Given the description of an element on the screen output the (x, y) to click on. 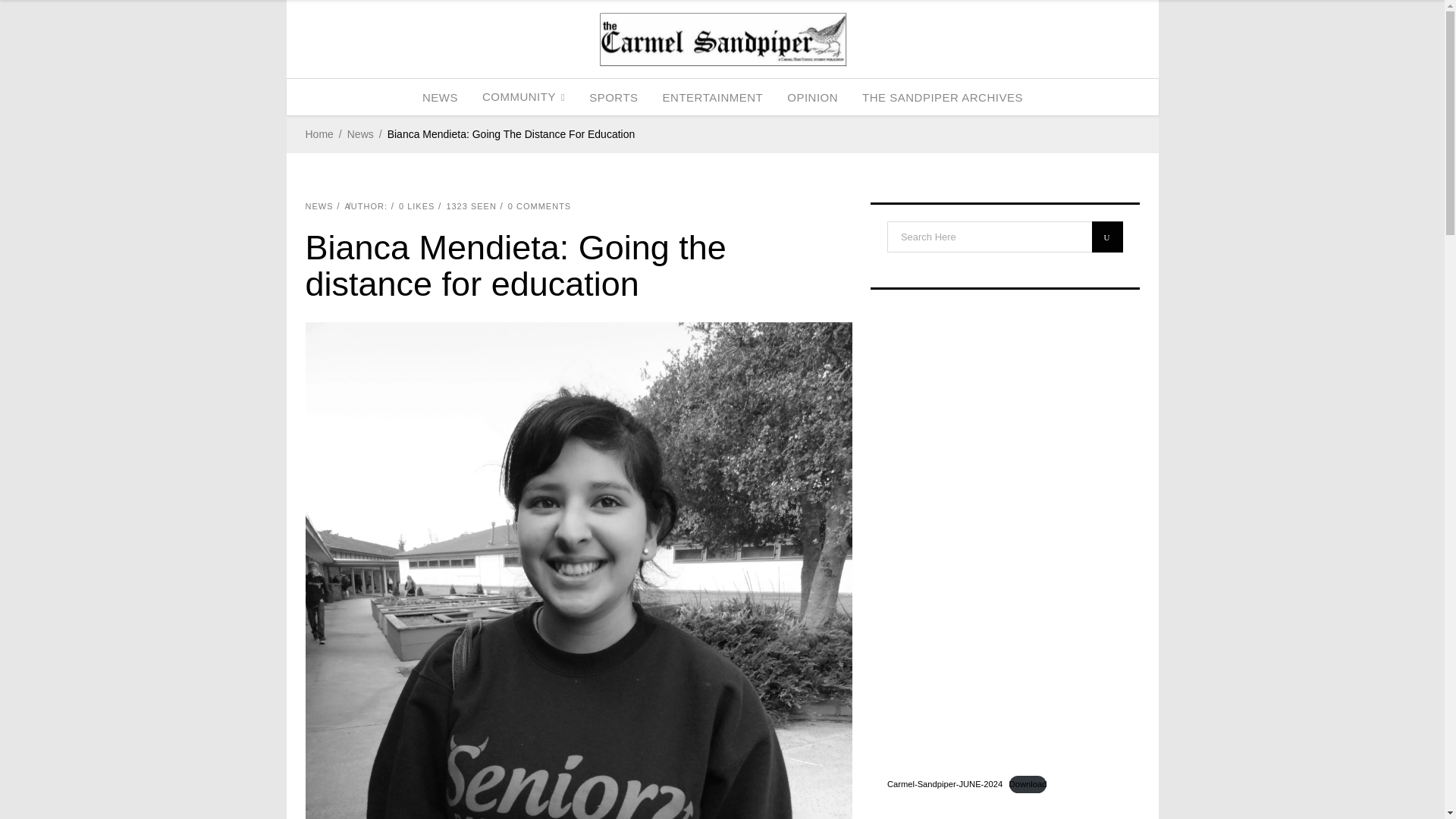
SPORTS (612, 96)
NEWS (440, 96)
COMMUNITY (523, 96)
U (1107, 236)
THE SANDPIPER ARCHIVES (942, 96)
AUTHOR: (365, 205)
News (360, 134)
0 COMMENTS (539, 205)
ENTERTAINMENT (713, 96)
OPINION (812, 96)
